Given the description of an element on the screen output the (x, y) to click on. 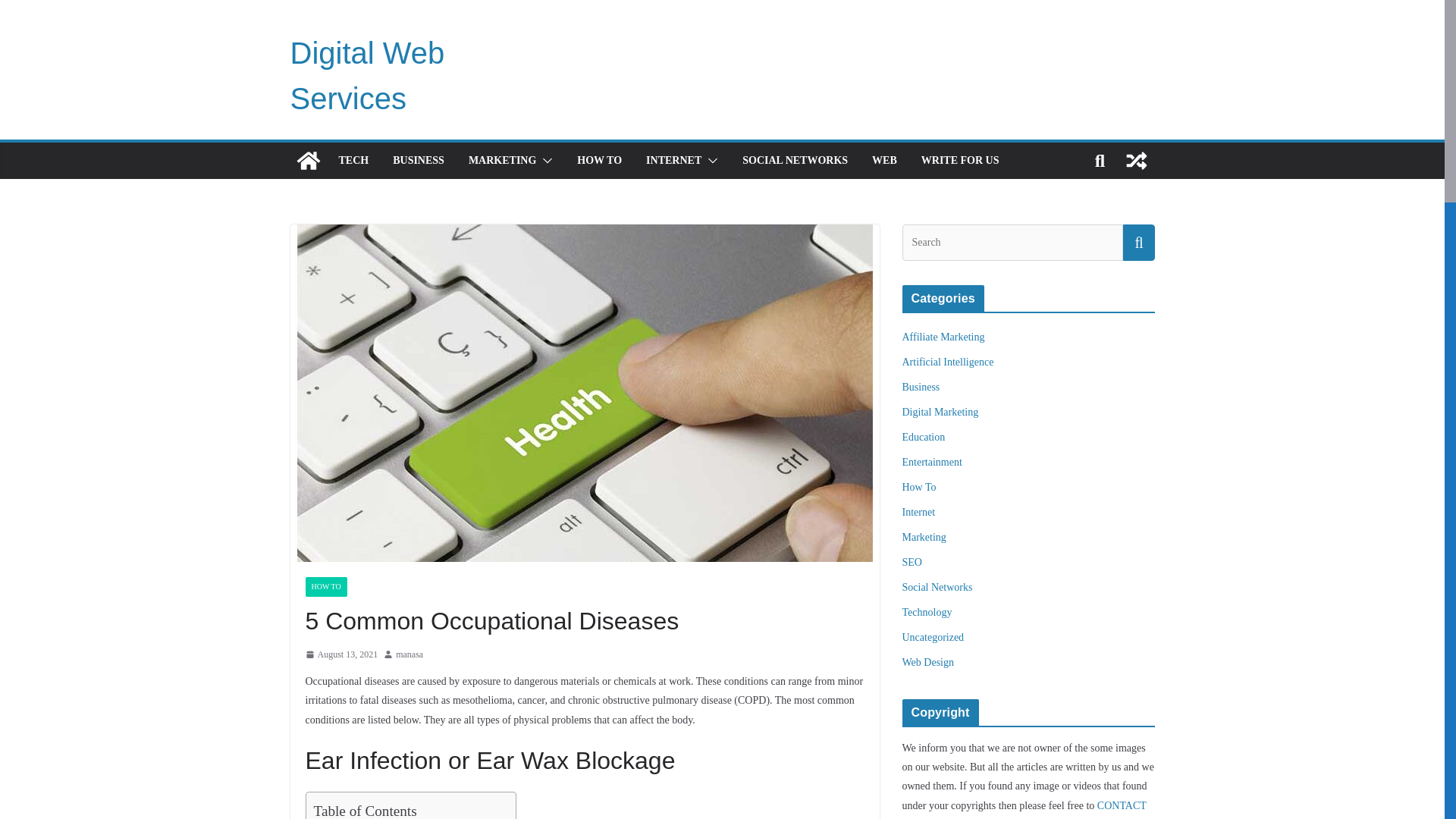
WEB (884, 160)
INTERNET (673, 160)
HOW TO (598, 160)
SOCIAL NETWORKS (794, 160)
BUSINESS (418, 160)
August 13, 2021 (340, 655)
11:56 am (340, 655)
manasa (409, 655)
View a random post (1136, 160)
WRITE FOR US (959, 160)
